Given the description of an element on the screen output the (x, y) to click on. 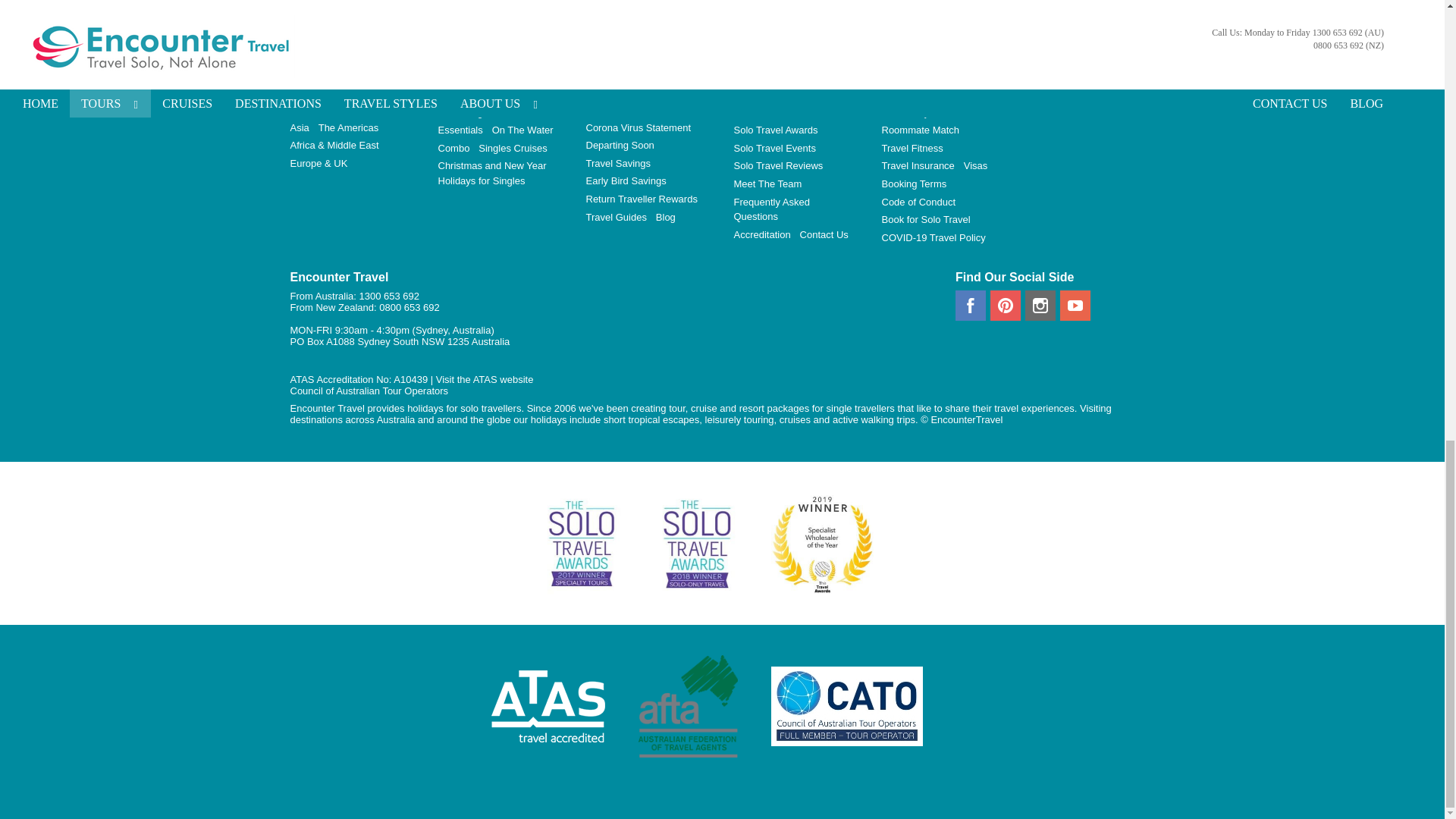
The Americas (351, 127)
ATAS (485, 378)
Discovery (462, 93)
Council of Australian Tour Operators Website (368, 390)
Asia (301, 127)
Solo Luxe (514, 93)
